Given the description of an element on the screen output the (x, y) to click on. 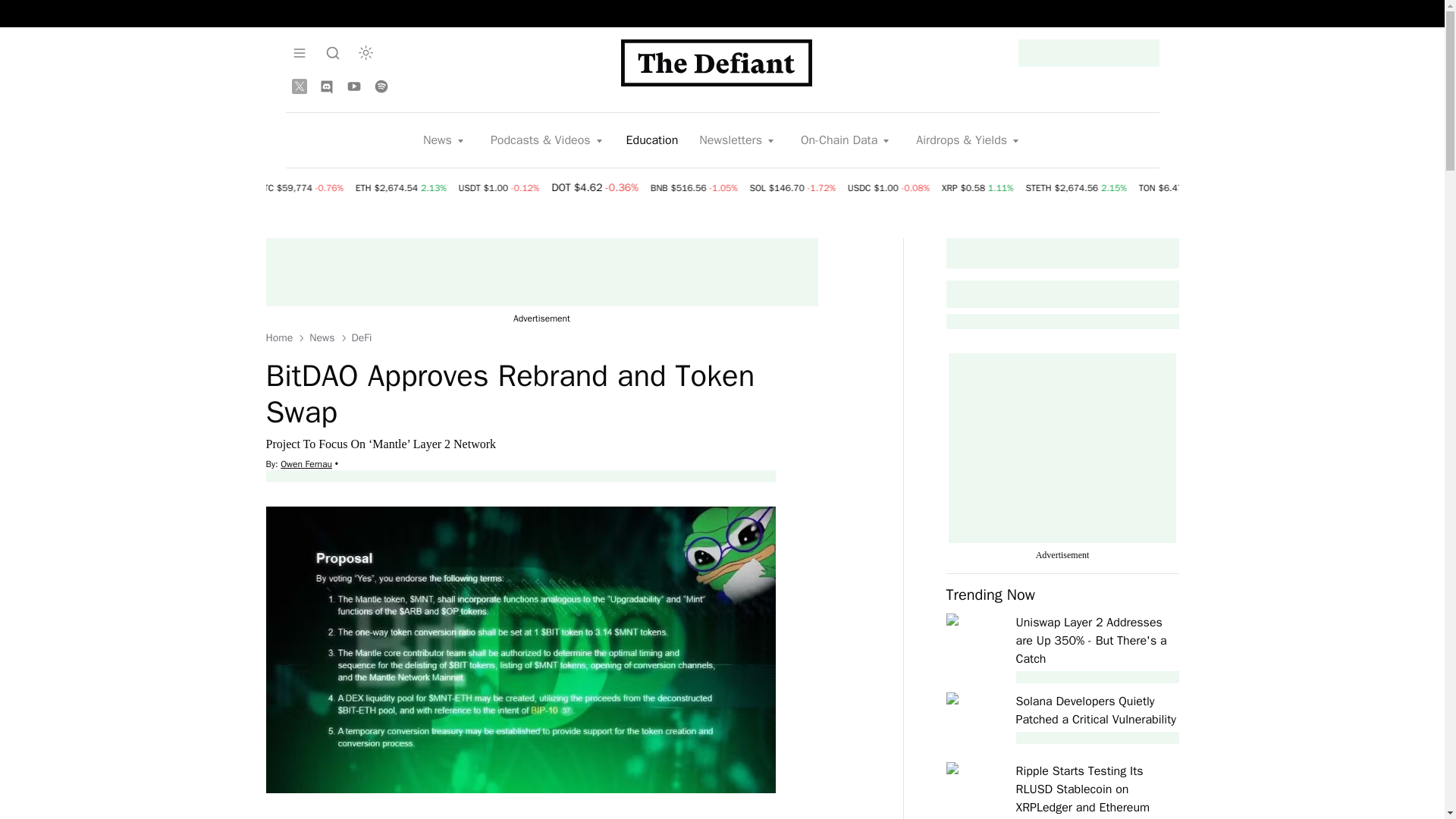
Spotify (380, 86)
YouTube (352, 85)
Education (652, 140)
Discord (325, 86)
Discord (326, 85)
On-Chain Data (846, 139)
Spotify (380, 85)
Twitter (299, 85)
Toggle theme (365, 52)
Team Menu (299, 52)
